Given the description of an element on the screen output the (x, y) to click on. 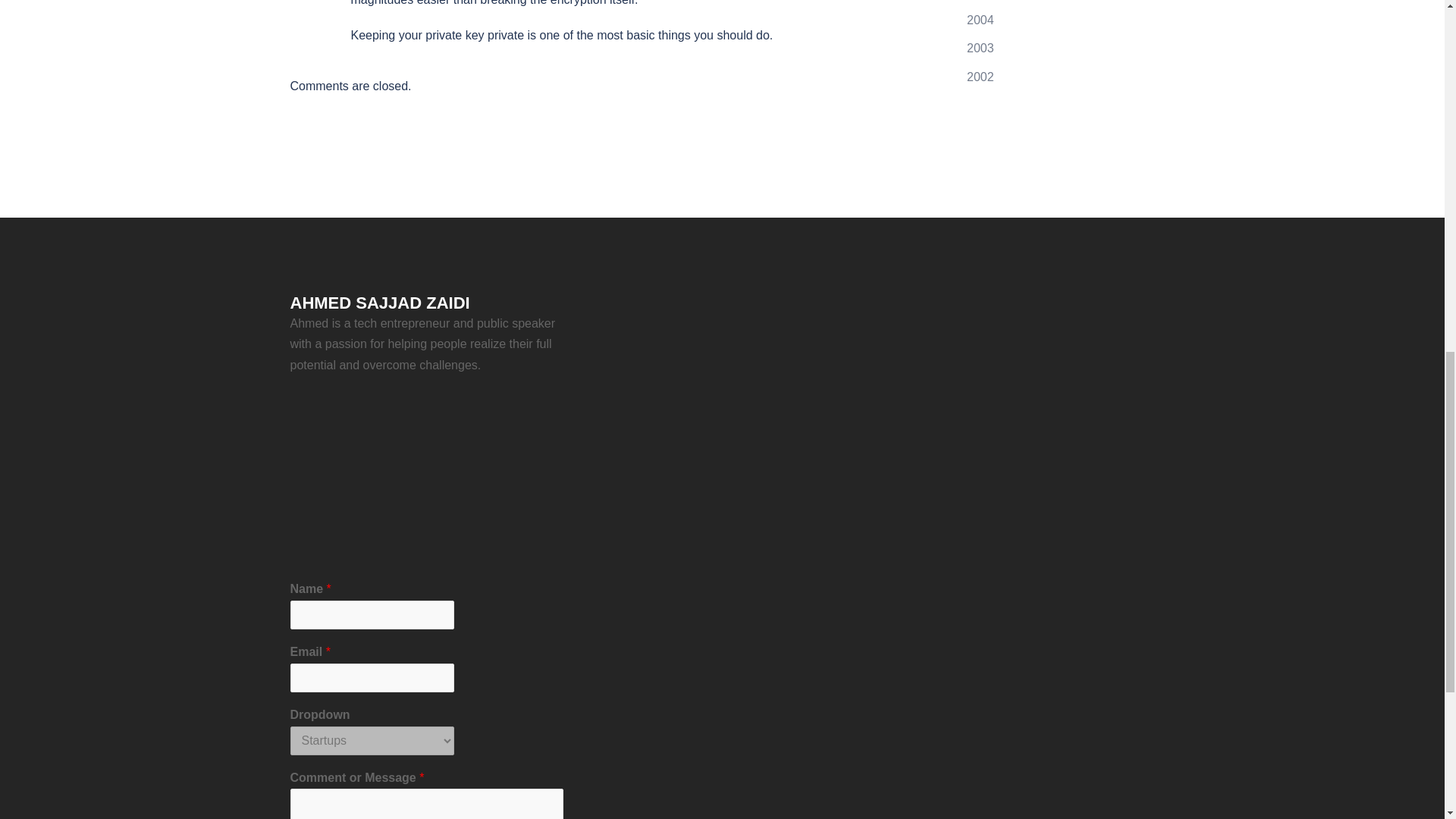
About Ahmed Sajjad Zaidi (425, 475)
